Given the description of an element on the screen output the (x, y) to click on. 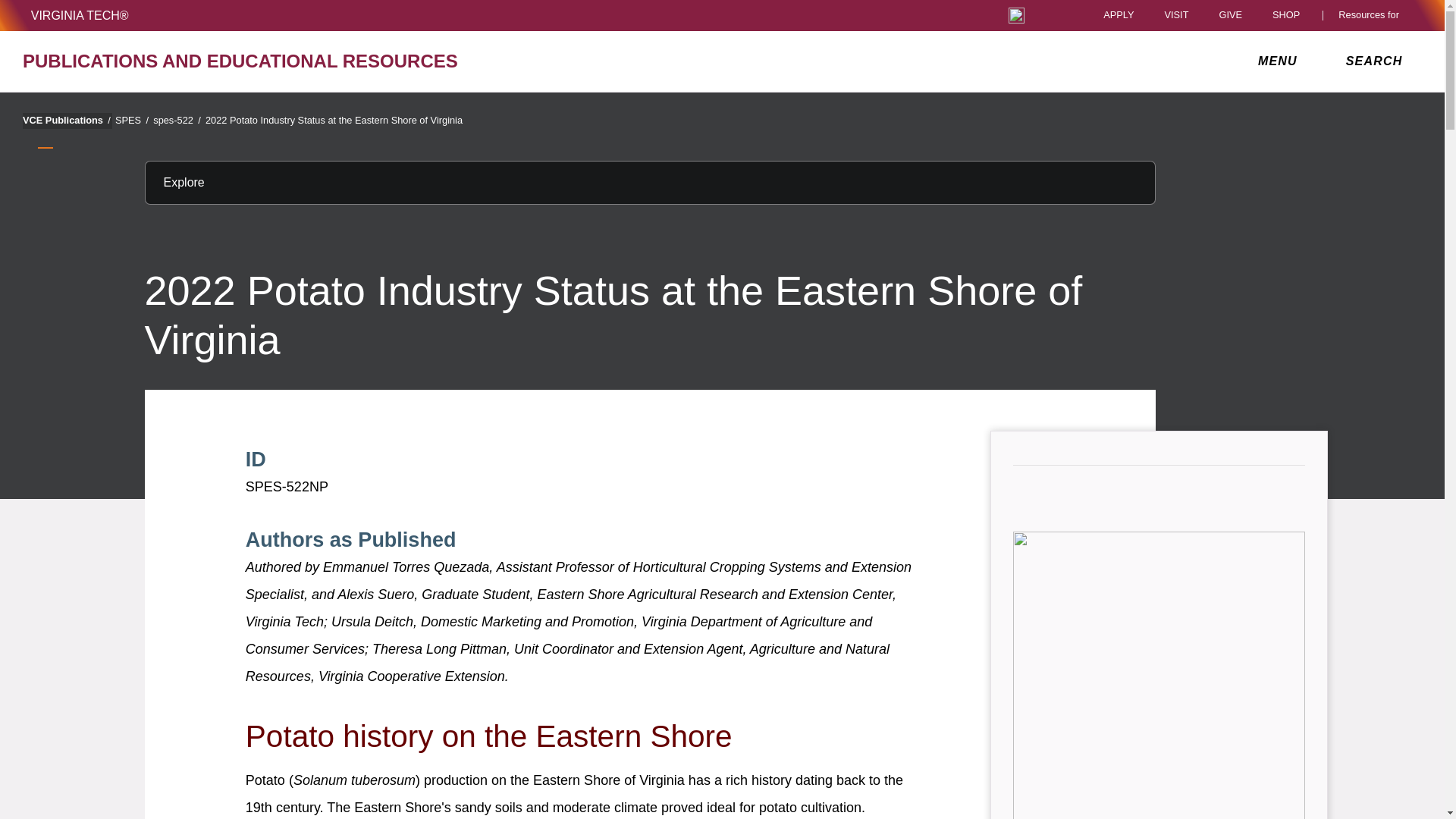
Universal Access Toggle (1017, 15)
Resources for (1372, 15)
GIVE (1229, 15)
APPLY (1118, 15)
SHOP (1289, 15)
PUBLICATIONS AND EDUCATIONAL RESOURCES (250, 60)
VISIT (1175, 15)
MENU (1280, 61)
